Given the description of an element on the screen output the (x, y) to click on. 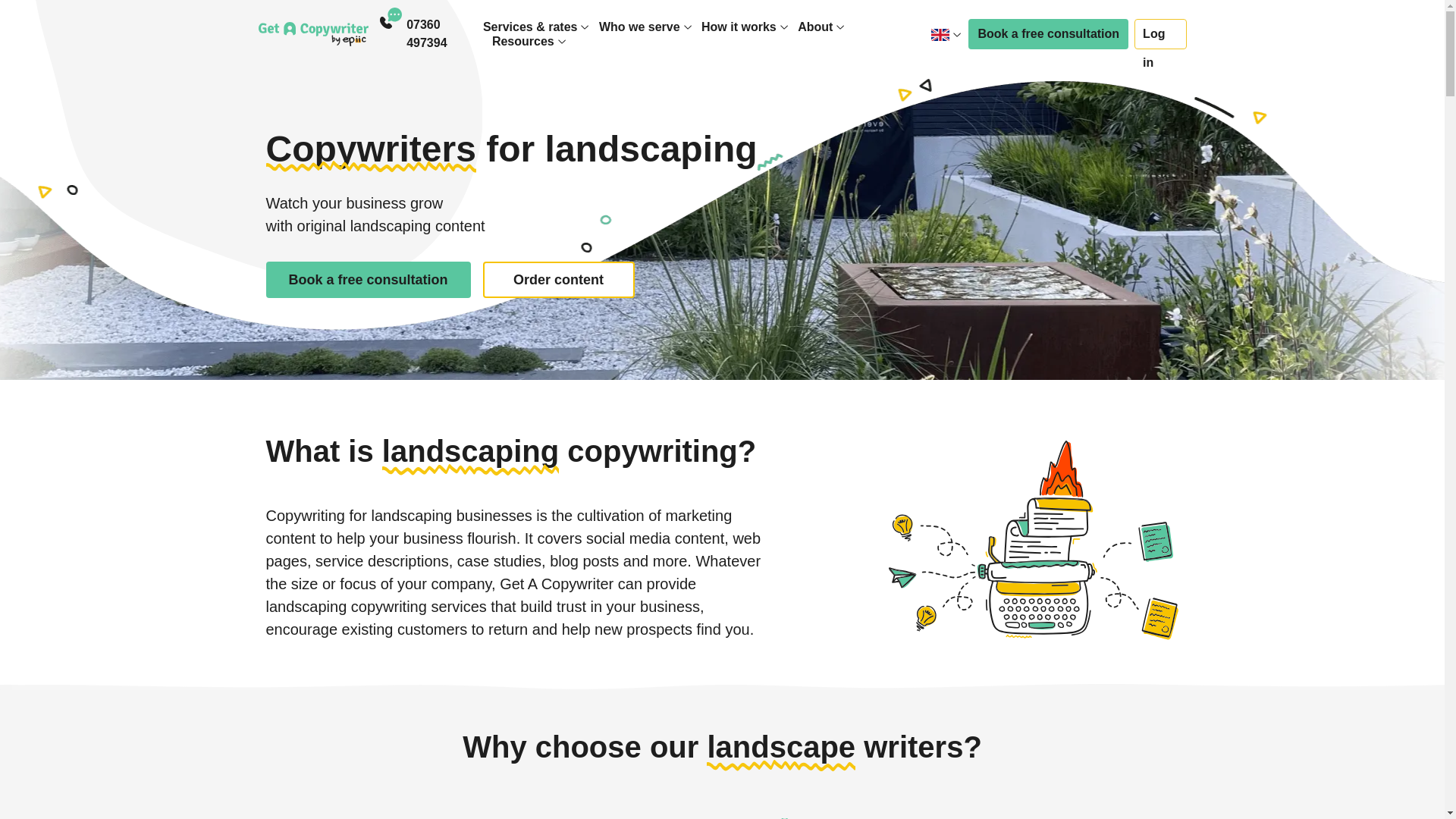
Resources (523, 41)
About (814, 26)
phone number (444, 33)
Get a copywriter (312, 33)
Who we serve (638, 26)
How it works (738, 26)
07360 497394 (444, 33)
